Given the description of an element on the screen output the (x, y) to click on. 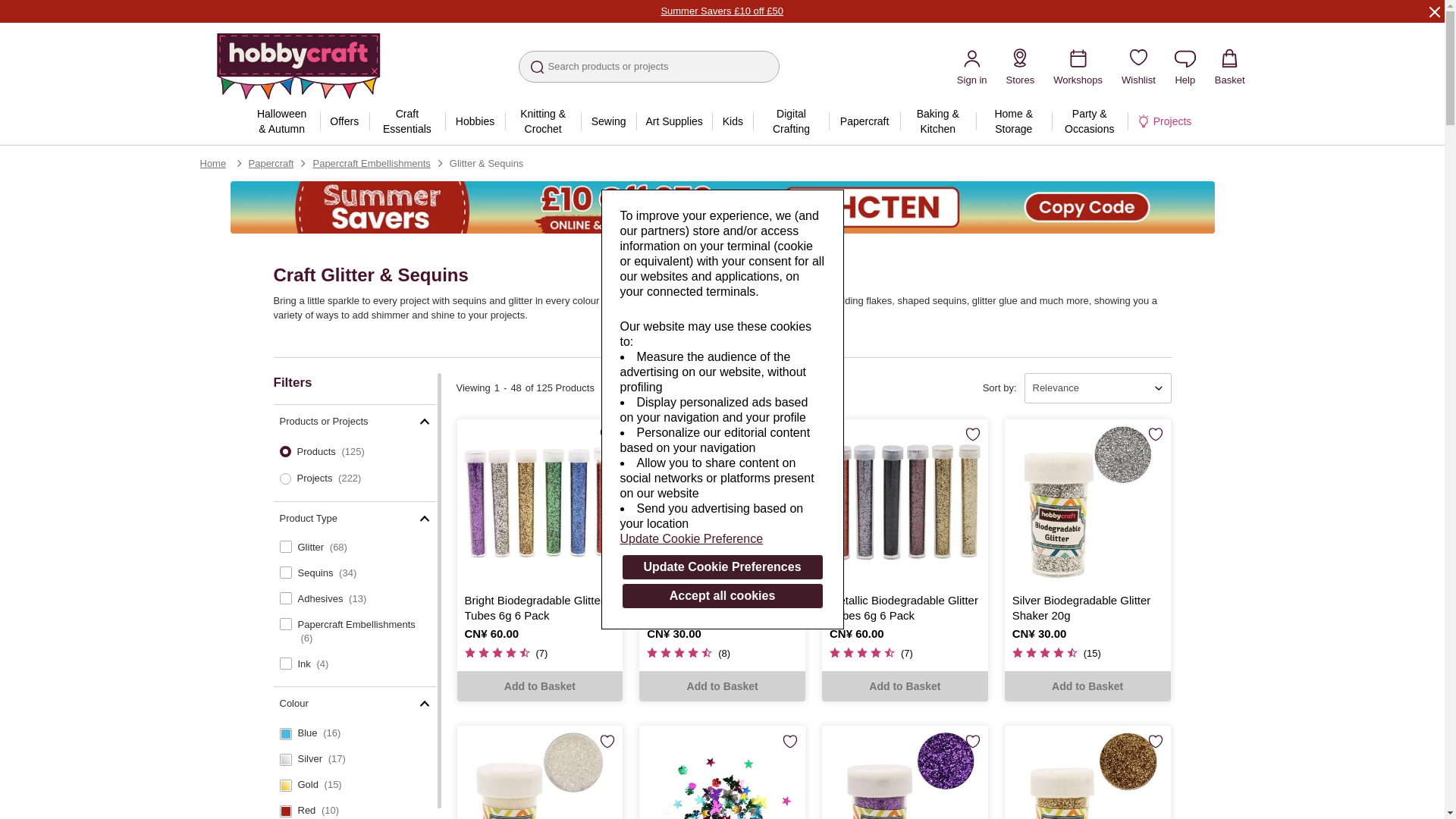
Accept all cookies (722, 596)
Workshops (1077, 65)
Art Supplies (673, 121)
Digital Crafting (790, 121)
Workshops (1077, 65)
Craft Essentials (407, 121)
Hobbies (475, 121)
Kids (731, 121)
Search products or projects (648, 66)
Papercraft (863, 121)
